Given the description of an element on the screen output the (x, y) to click on. 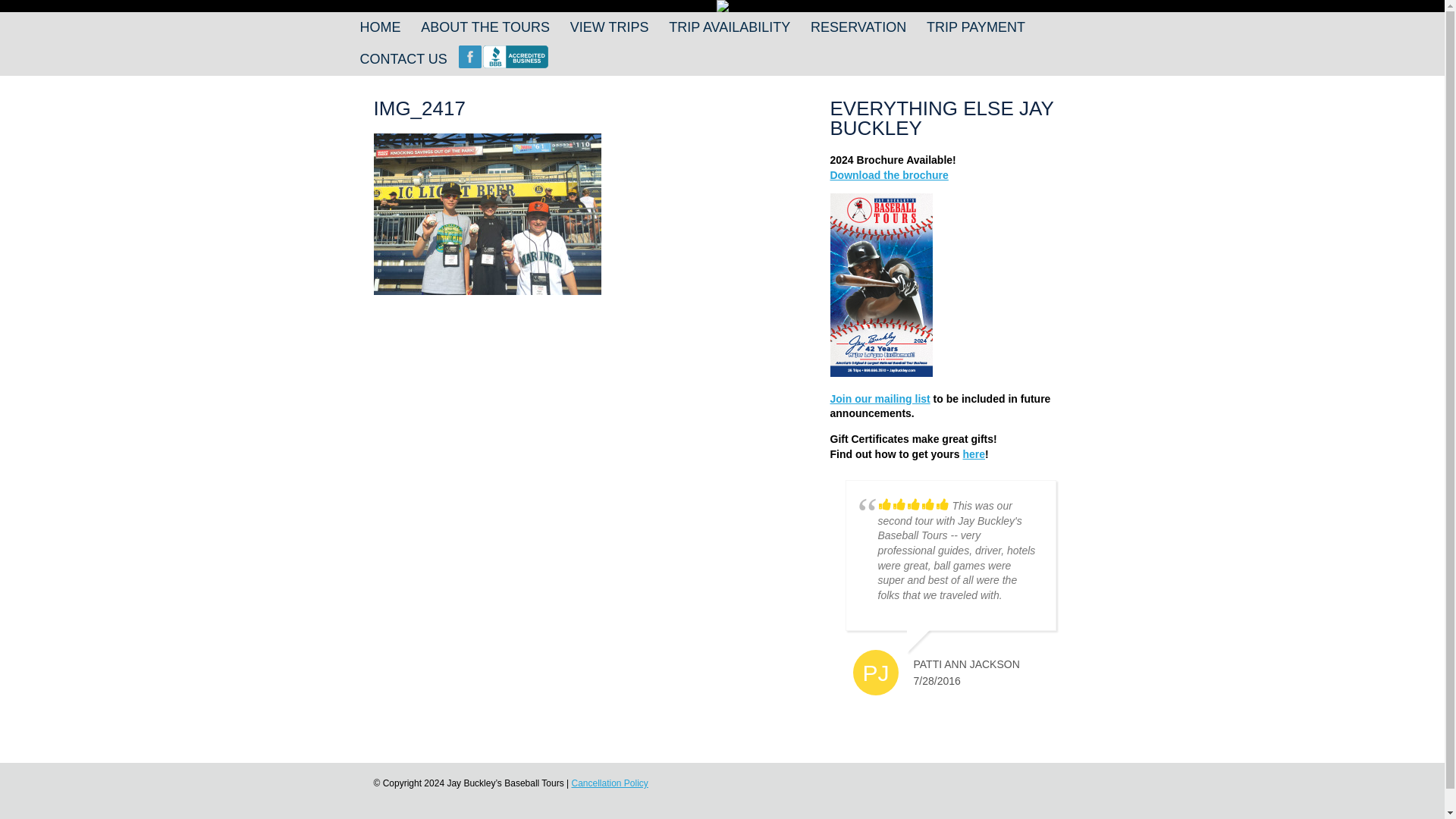
ABOUT THE TOURS (485, 25)
TRIP AVAILABILITY (729, 25)
HOME (379, 25)
TRIP PAYMENT (975, 25)
RESERVATION (858, 25)
CONTACT US (402, 57)
VIEW TRIPS (609, 25)
